Given the description of an element on the screen output the (x, y) to click on. 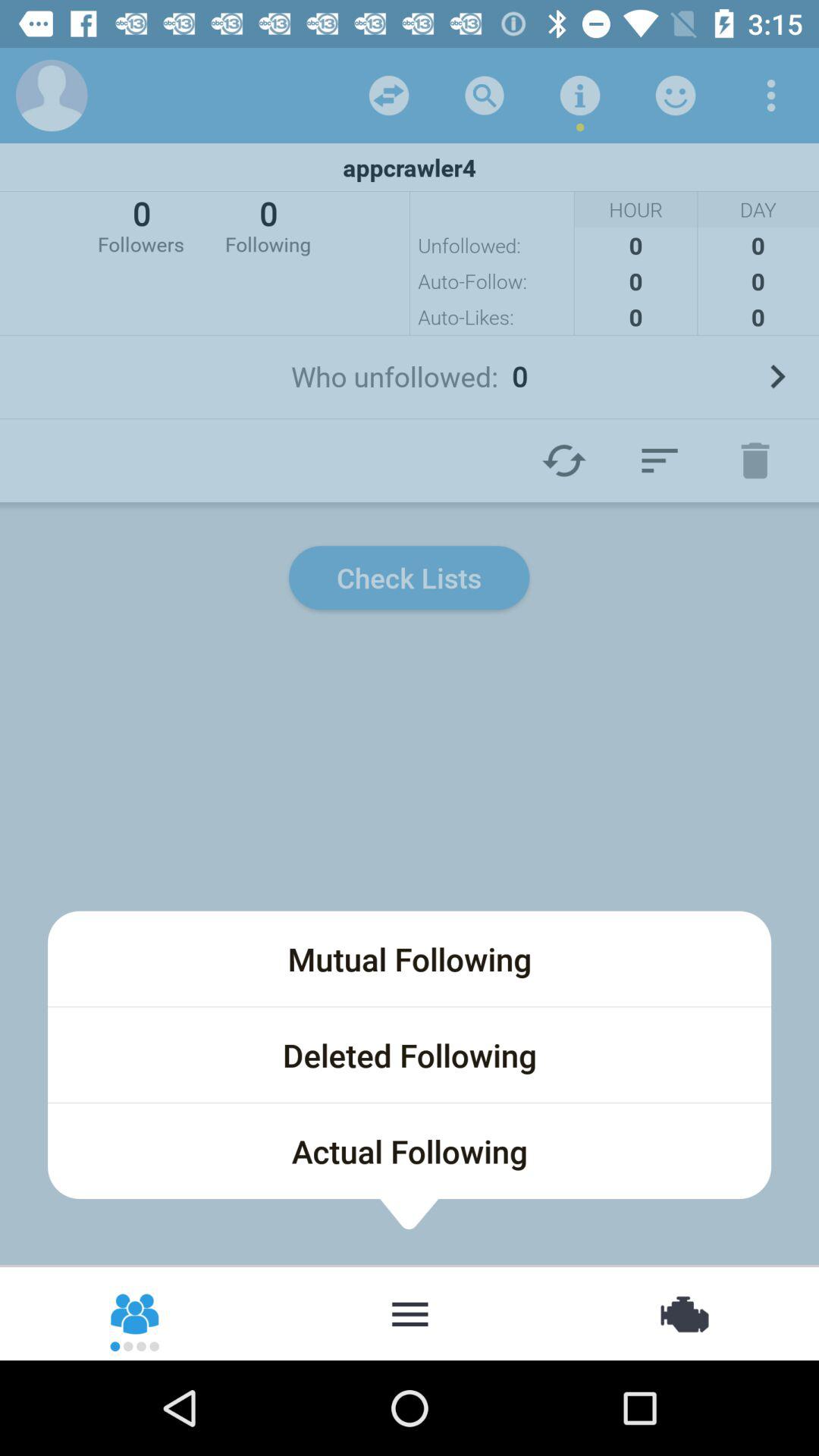
information (579, 95)
